Given the description of an element on the screen output the (x, y) to click on. 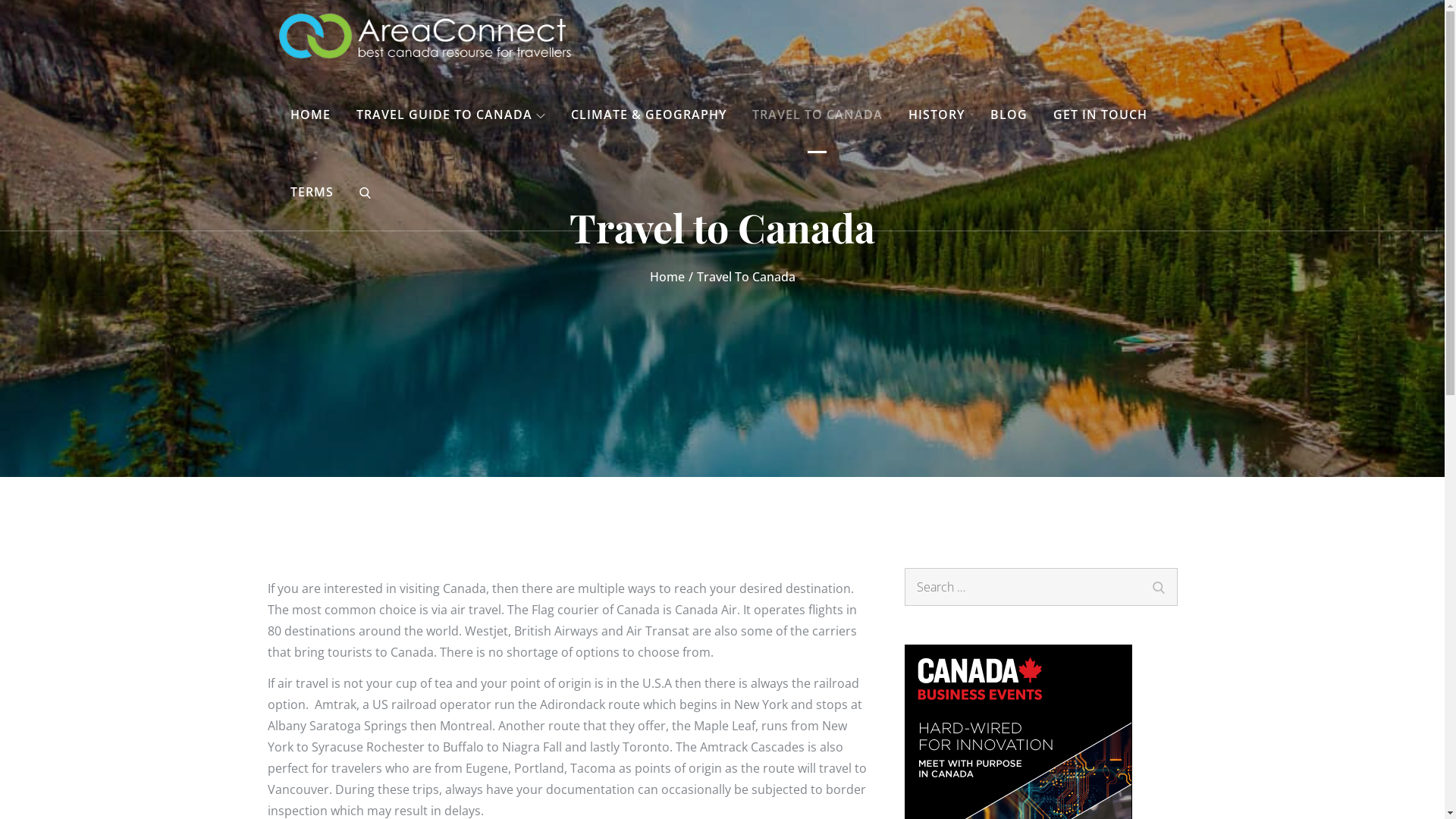
TRAVEL TO CANADA Element type: text (816, 114)
Search Element type: text (1157, 584)
BLOG Element type: text (1008, 114)
HISTORY Element type: text (935, 114)
CLIMATE & GEOGRAPHY Element type: text (648, 114)
HOME Element type: text (310, 114)
TERMS Element type: text (312, 191)
Home Element type: text (666, 276)
GET IN TOUCH Element type: text (1099, 114)
TRAVEL GUIDE TO CANADA Element type: text (449, 114)
AreaConnect Canada Element type: text (713, 53)
